Given the description of an element on the screen output the (x, y) to click on. 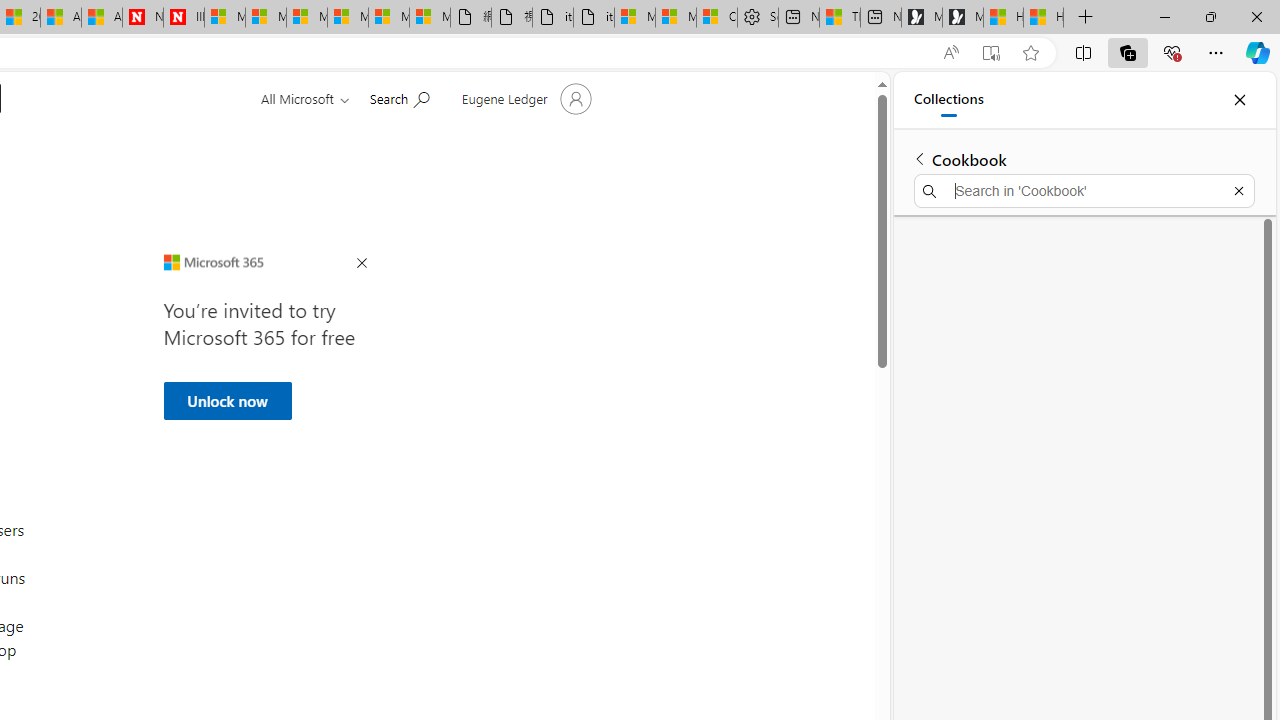
Three Ways To Stop Sweating So Much (840, 17)
itconcepthk.com/projector_solutions.mp4 (593, 17)
Unlock now (226, 399)
Search in 'Cookbook' (1084, 190)
